Given the description of an element on the screen output the (x, y) to click on. 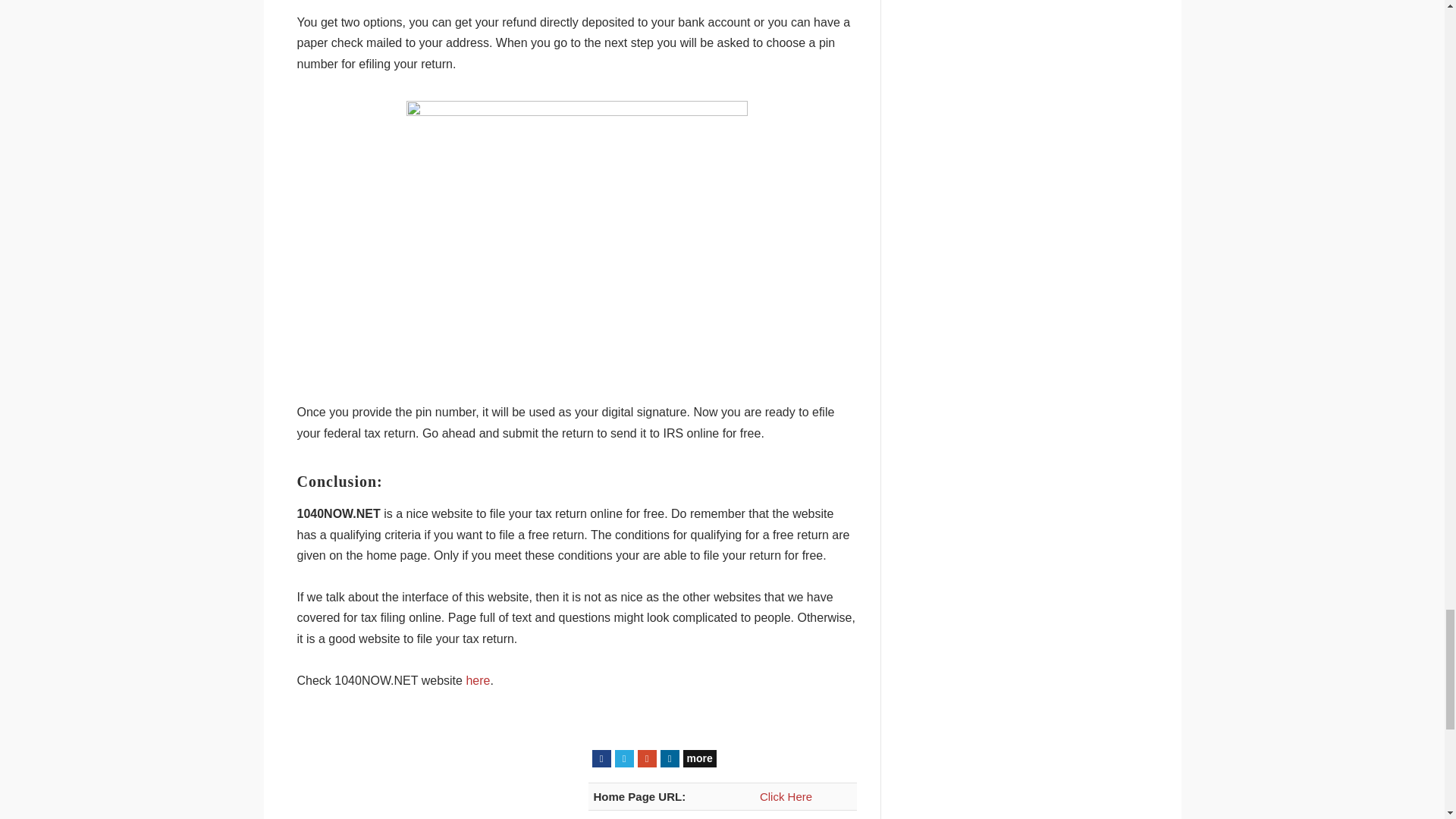
Share on LinkedIn (668, 758)
Share on Facebook (600, 758)
Tweet It (623, 758)
